Given the description of an element on the screen output the (x, y) to click on. 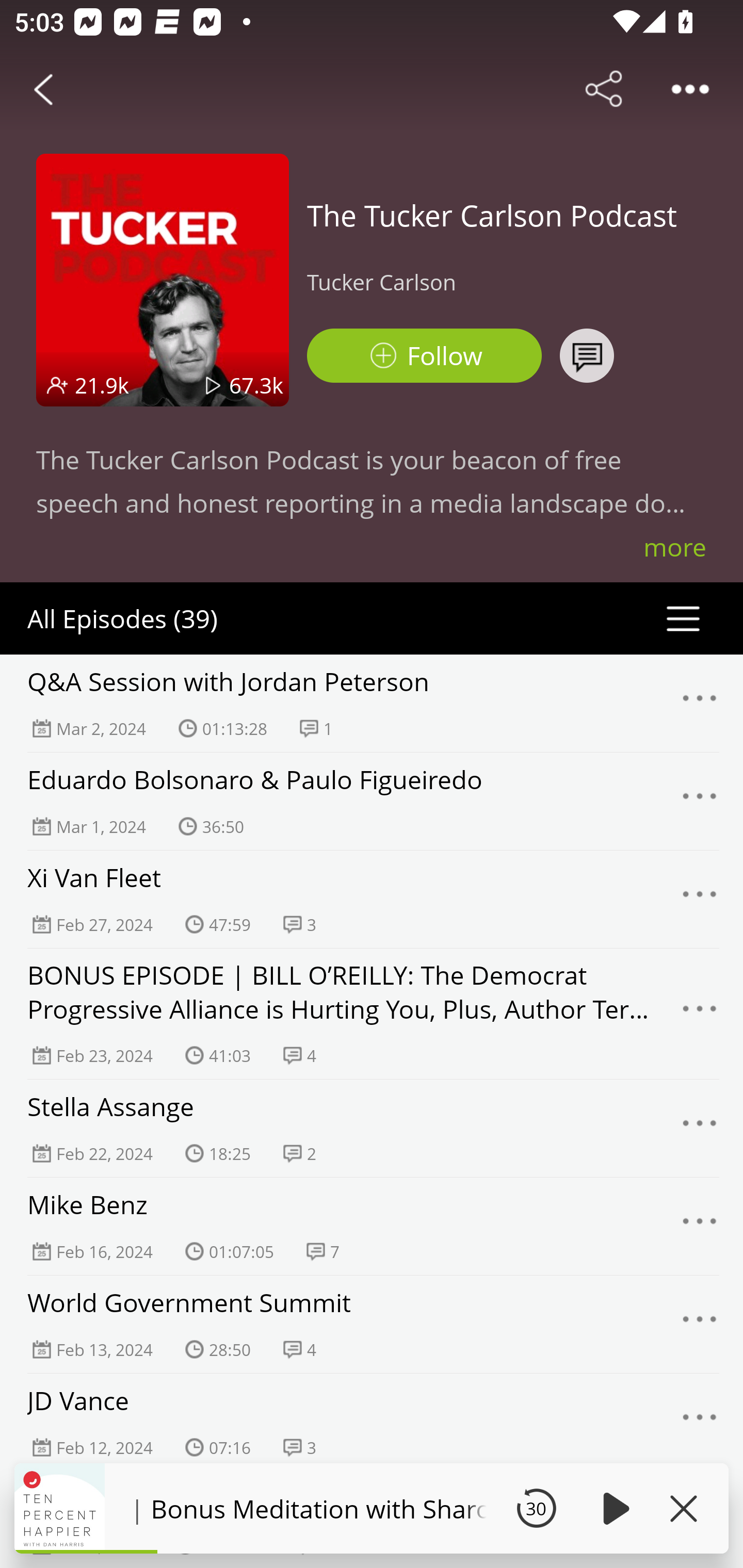
Back (43, 88)
Podbean Follow (423, 355)
21.9k (102, 384)
more (674, 546)
Menu (699, 703)
Menu (699, 801)
Xi Van Fleet Feb 27, 2024 47:59 3 Menu (371, 898)
Menu (699, 899)
Menu (699, 1013)
Stella Assange Feb 22, 2024 18:25 2 Menu (371, 1127)
Menu (699, 1128)
Mike Benz Feb 16, 2024 01:07:05 7 Menu (371, 1225)
Menu (699, 1226)
World Government Summit Feb 13, 2024 28:50 4 Menu (371, 1323)
Menu (699, 1324)
JD Vance Feb 12, 2024 07:16 3 Menu (371, 1421)
Menu (699, 1422)
Play (613, 1507)
30 Seek Backward (536, 1508)
